Given the description of an element on the screen output the (x, y) to click on. 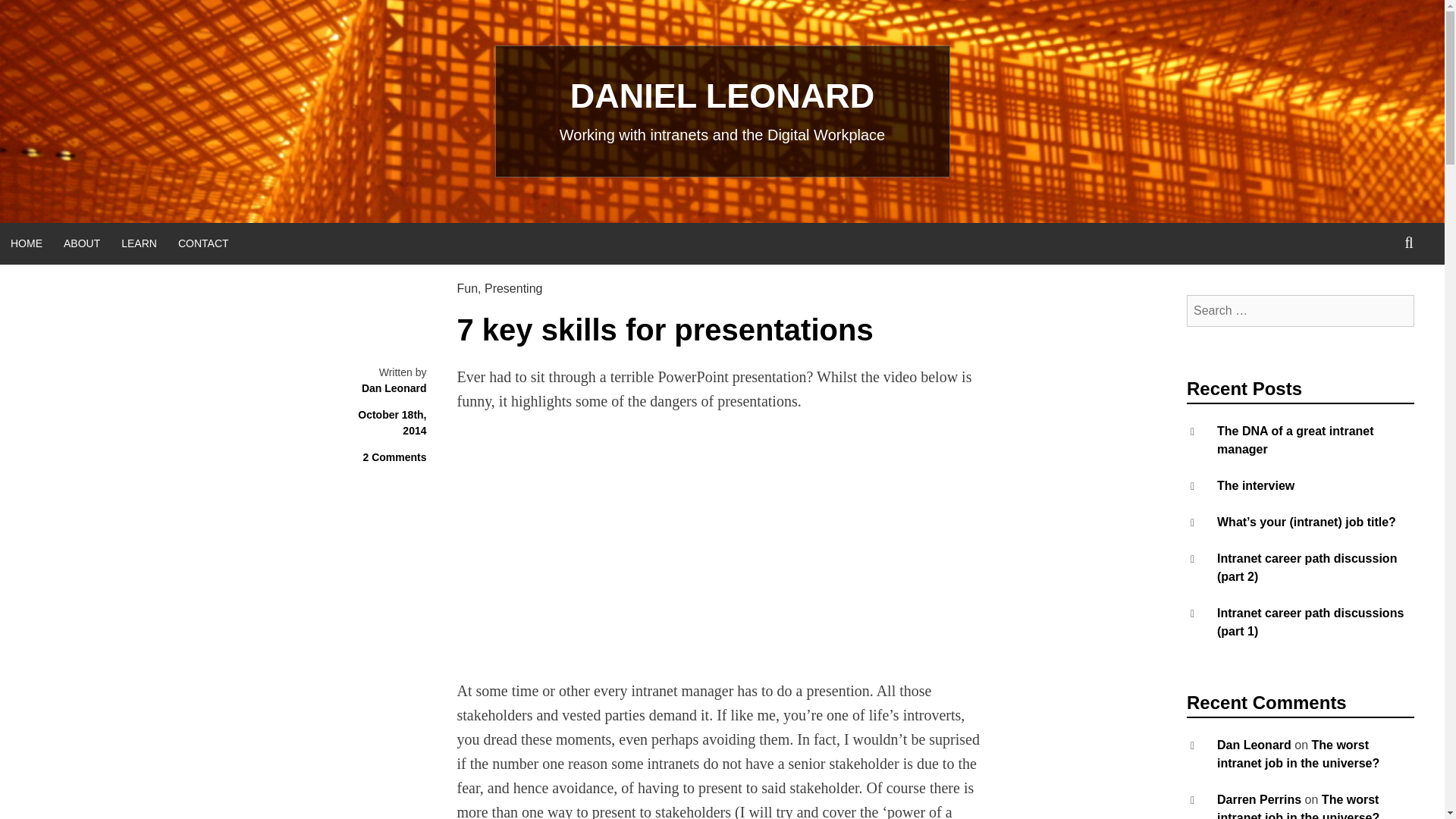
Dan Leonard (1254, 744)
The worst intranet job in the universe? (1297, 806)
2 Comments (394, 457)
Presenting (513, 287)
The DNA of a great intranet manager (1295, 440)
October 18th, 2014 (392, 422)
Search (48, 18)
ABOUT (81, 243)
Darren Perrins (1259, 799)
LEARN (138, 243)
SEARCH (1409, 242)
HOME (26, 243)
DANIEL LEONARD (722, 95)
Dan Leonard (393, 387)
The worst intranet job in the universe? (1297, 753)
